Given the description of an element on the screen output the (x, y) to click on. 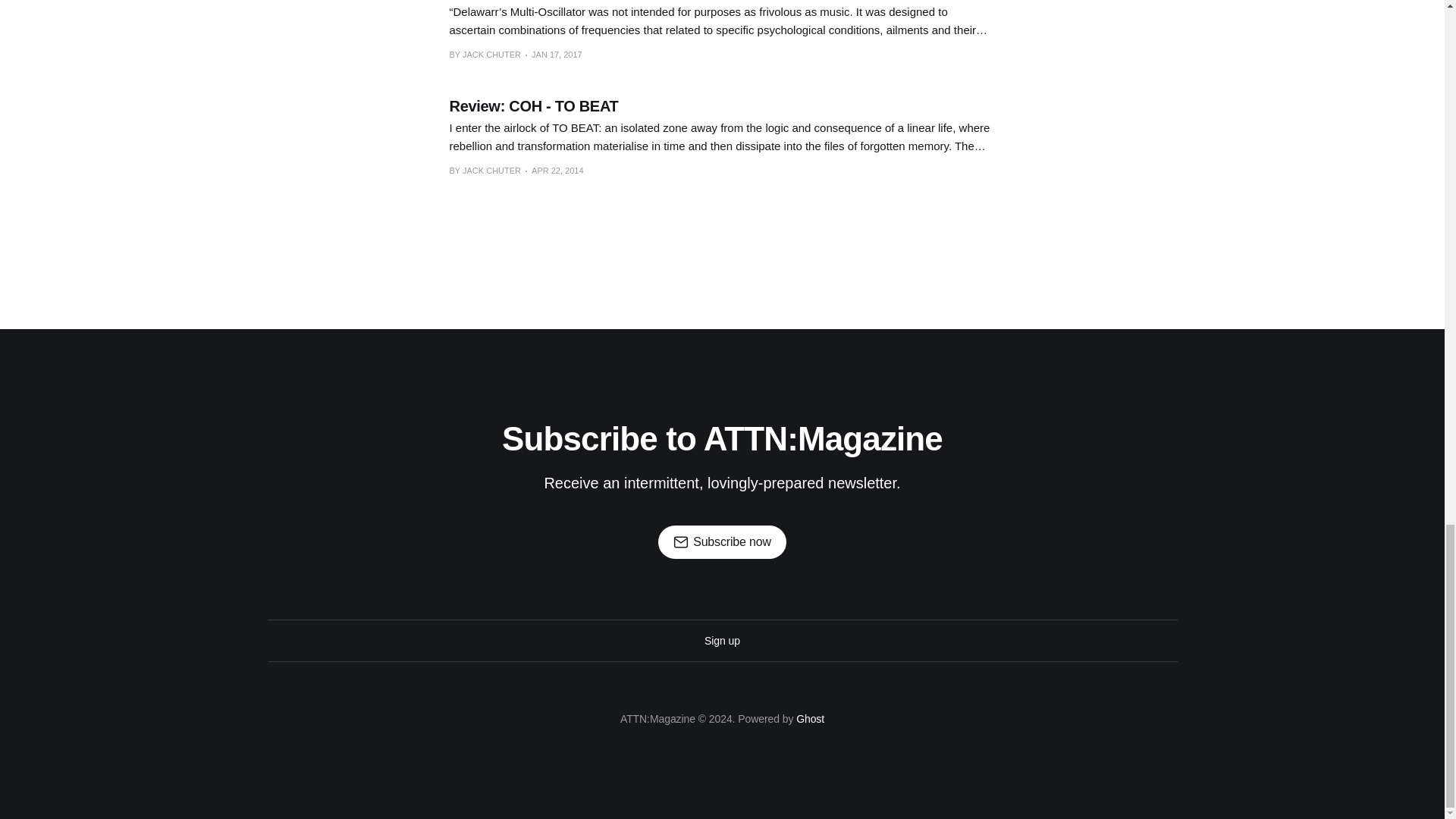
Ghost (810, 718)
Sign up (721, 640)
Subscribe now (722, 541)
